Given the description of an element on the screen output the (x, y) to click on. 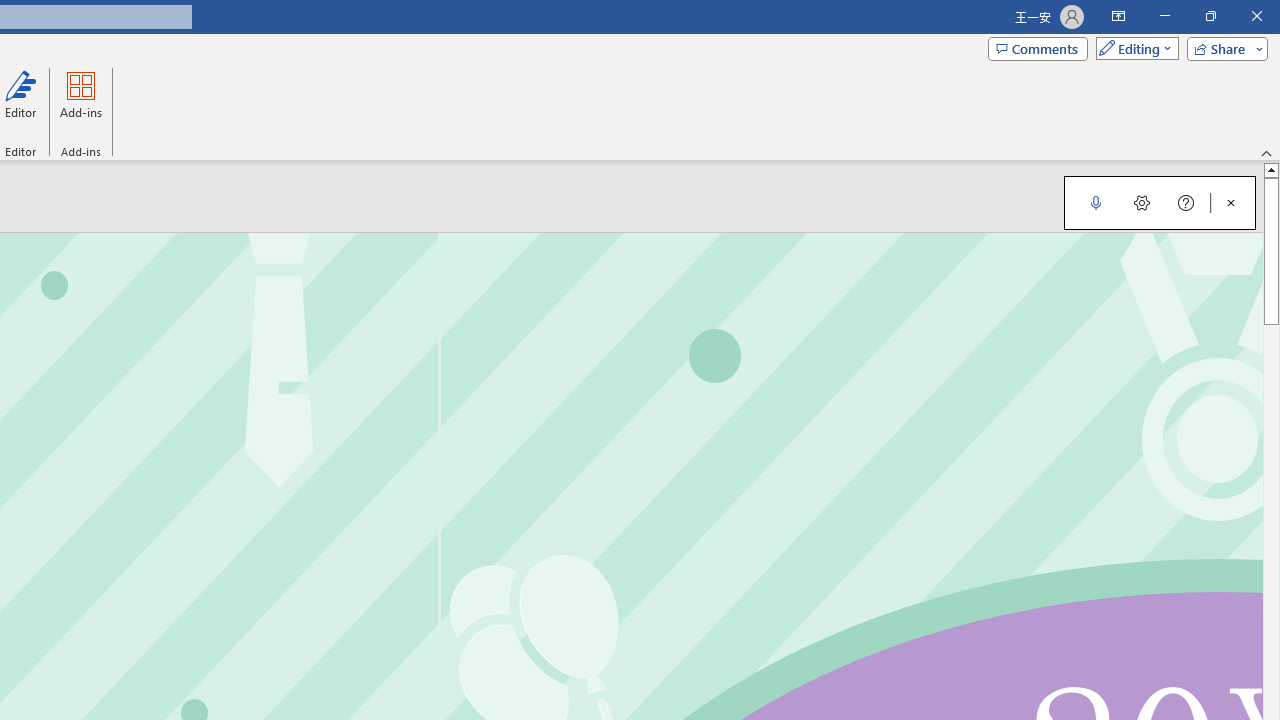
Dictation Settings (1142, 202)
Line up (1271, 169)
Start Dictation (1096, 202)
